Given the description of an element on the screen output the (x, y) to click on. 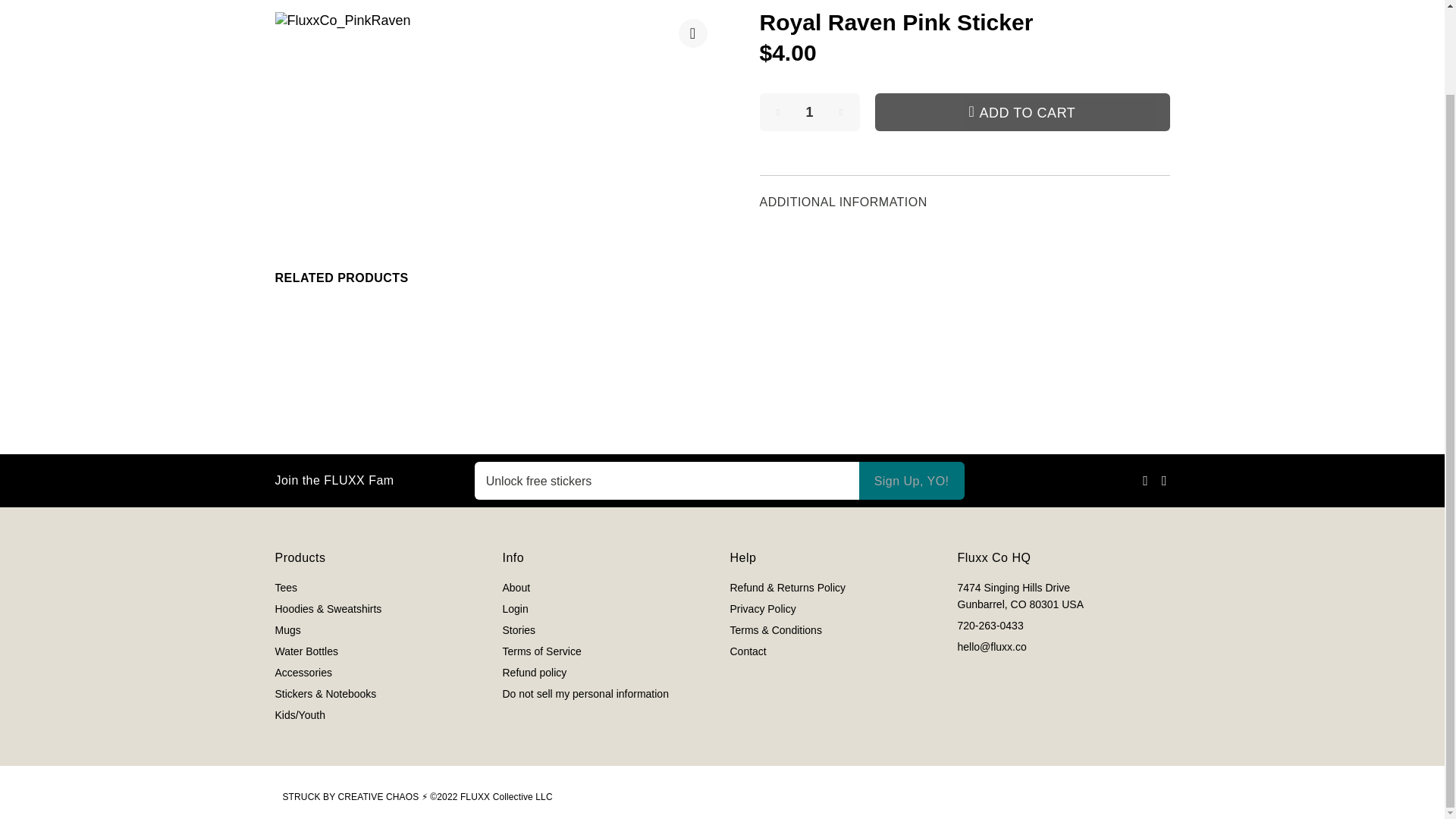
View Royal Raven Black Holo Sticker (377, 405)
View Royal Raven Silver Holo Sticker (604, 405)
1 (810, 112)
View Red Raven Pocket Notebooks 2-Pack (380, 335)
View 1 sticker (760, 405)
View Bike Birdy Bolts Pocket Notebooks 2-Pack (608, 328)
View Art Mousepads (780, 321)
View Royal Raven Stickers 3-Pack (1050, 321)
